Given the description of an element on the screen output the (x, y) to click on. 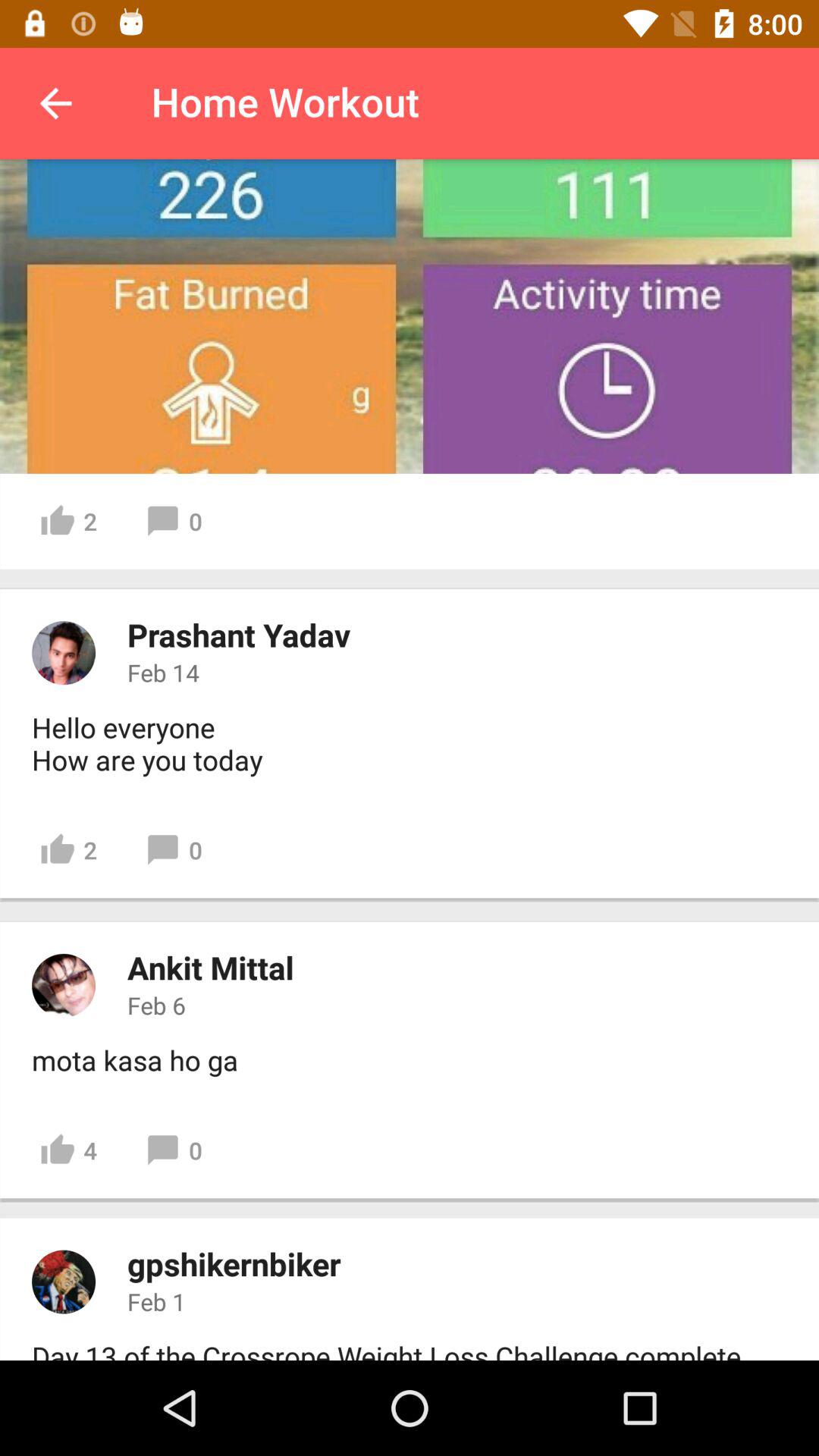
go to display picture (63, 1281)
